Given the description of an element on the screen output the (x, y) to click on. 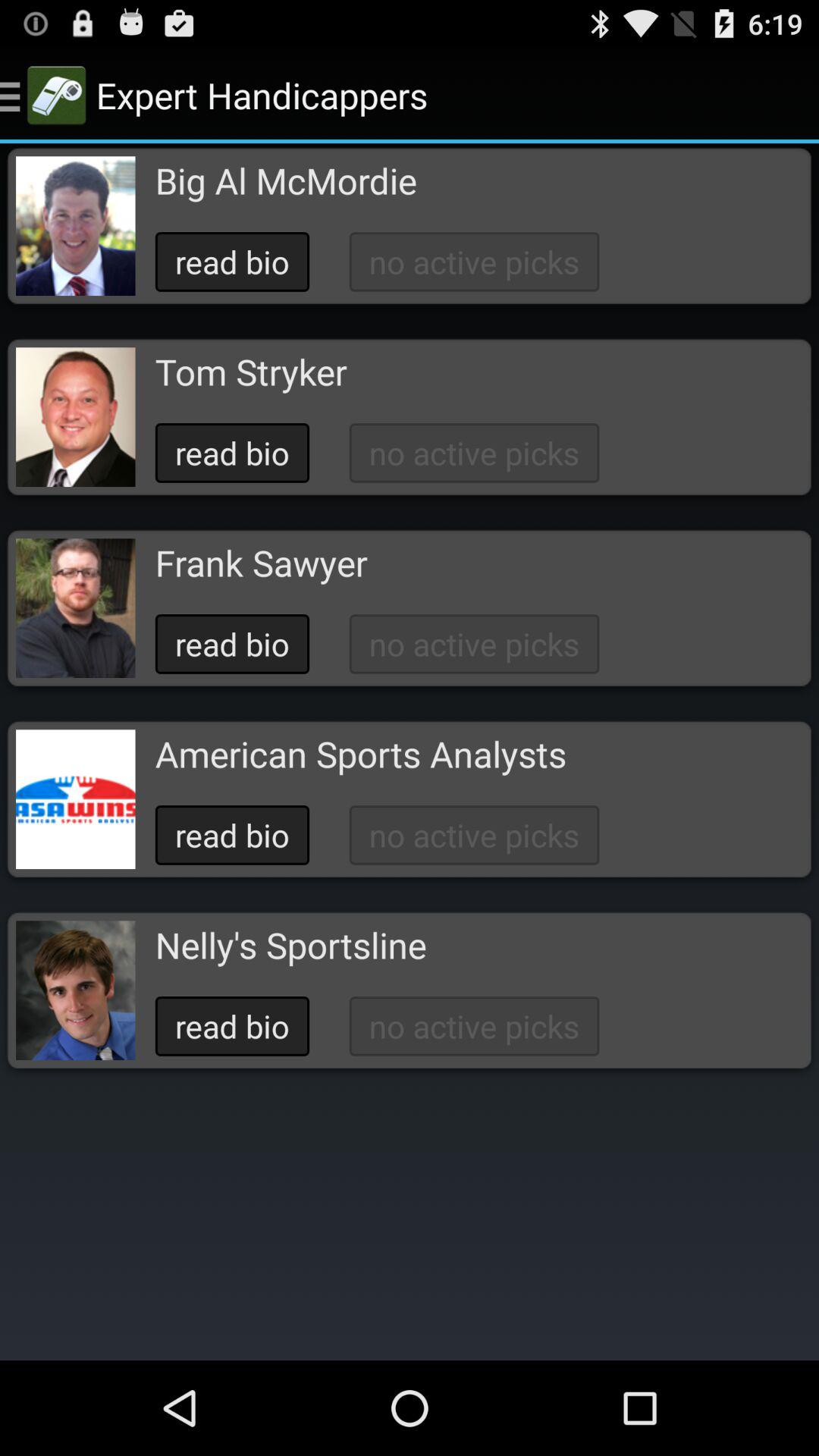
flip to the american sports analysts (360, 753)
